Given the description of an element on the screen output the (x, y) to click on. 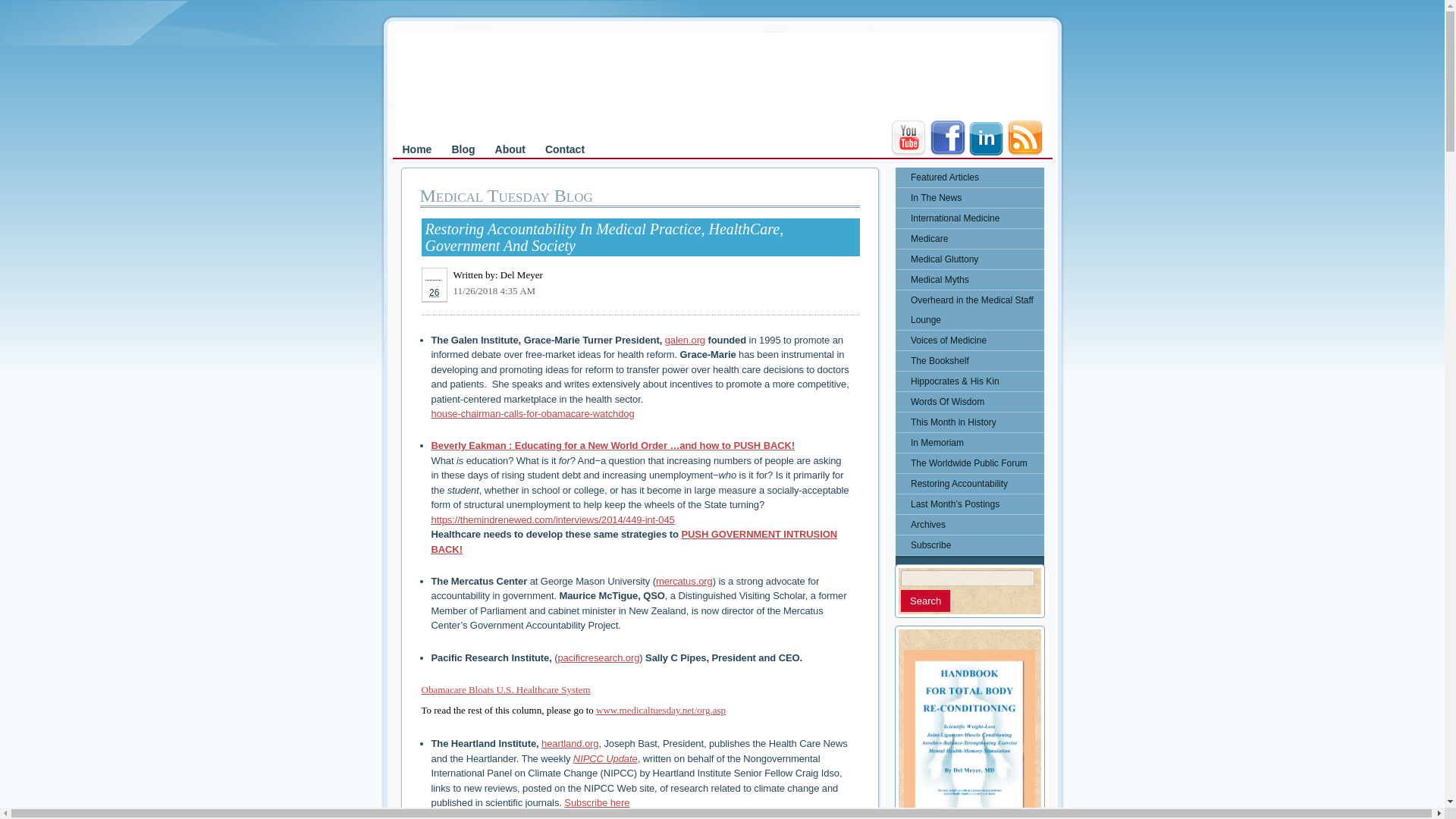
Blog (462, 148)
About (509, 148)
Home (417, 148)
galen.org (684, 339)
PUSH GOVERNMENT INTRUSION BACK! (632, 541)
Subscribe here (596, 802)
Obamacare Bloats U.S. Healthcare System (506, 689)
Contact (564, 148)
house-chairman-calls-for-obamacare-watchdog (531, 413)
heartland.org (569, 743)
mercatus.org (684, 581)
NIPCC Update (605, 758)
Search (925, 600)
pacificresearch.org (598, 657)
